Given the description of an element on the screen output the (x, y) to click on. 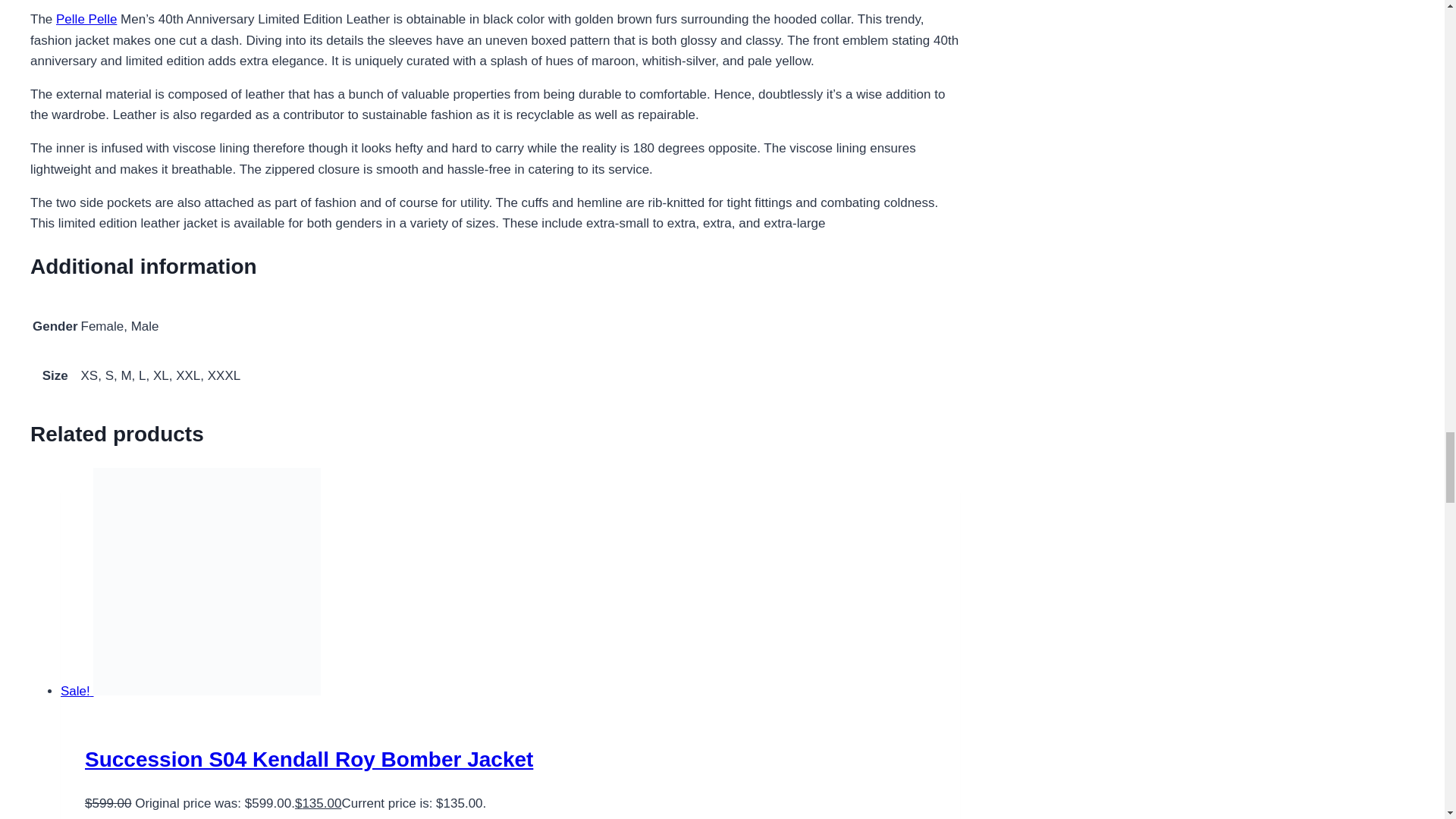
Continue (175, 816)
